Given the description of an element on the screen output the (x, y) to click on. 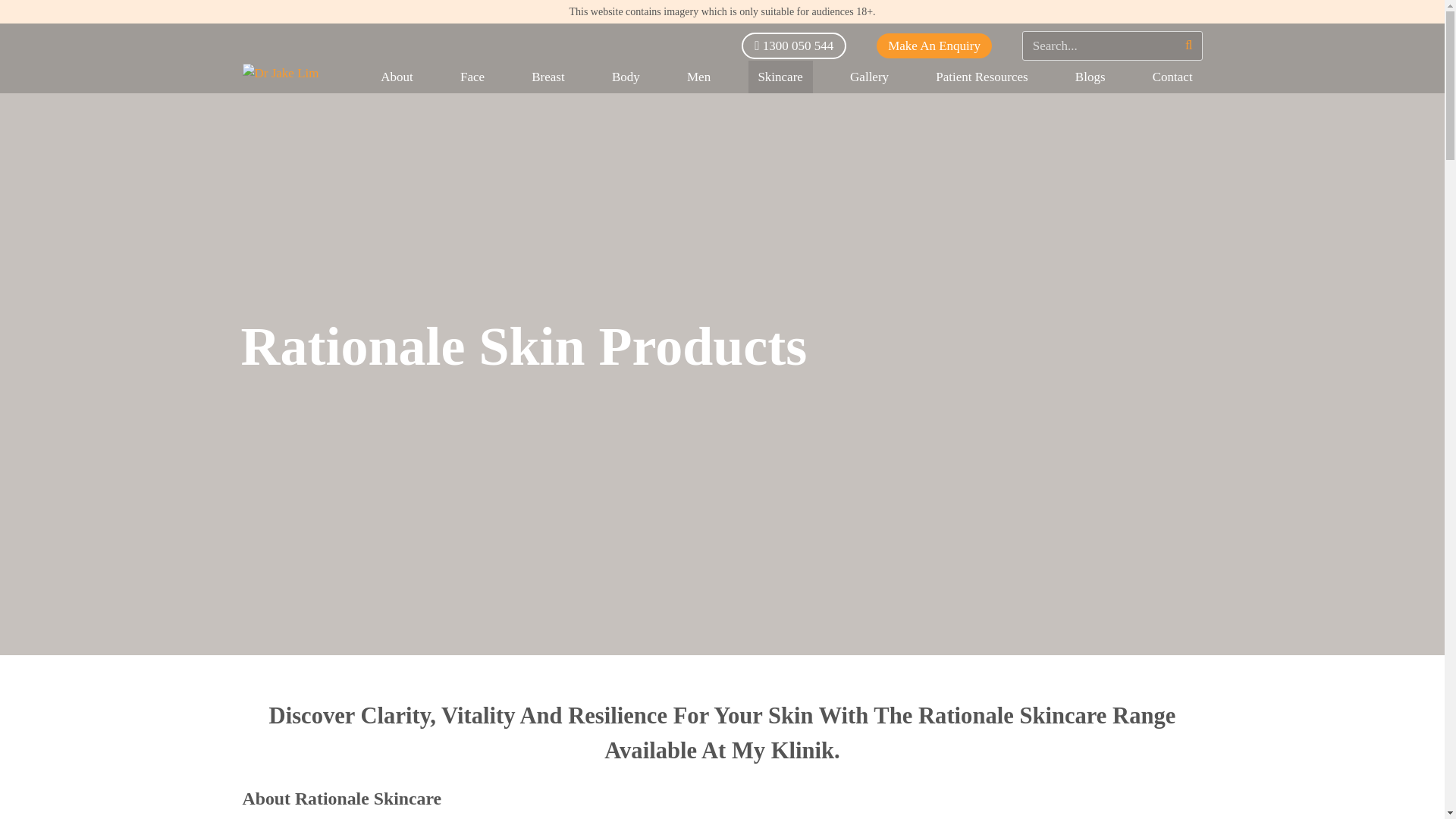
Face (472, 76)
1300 050 544 (793, 46)
Make An Enquiry (933, 45)
Men (698, 76)
Breast (548, 76)
Body (625, 76)
About (397, 76)
